Given the description of an element on the screen output the (x, y) to click on. 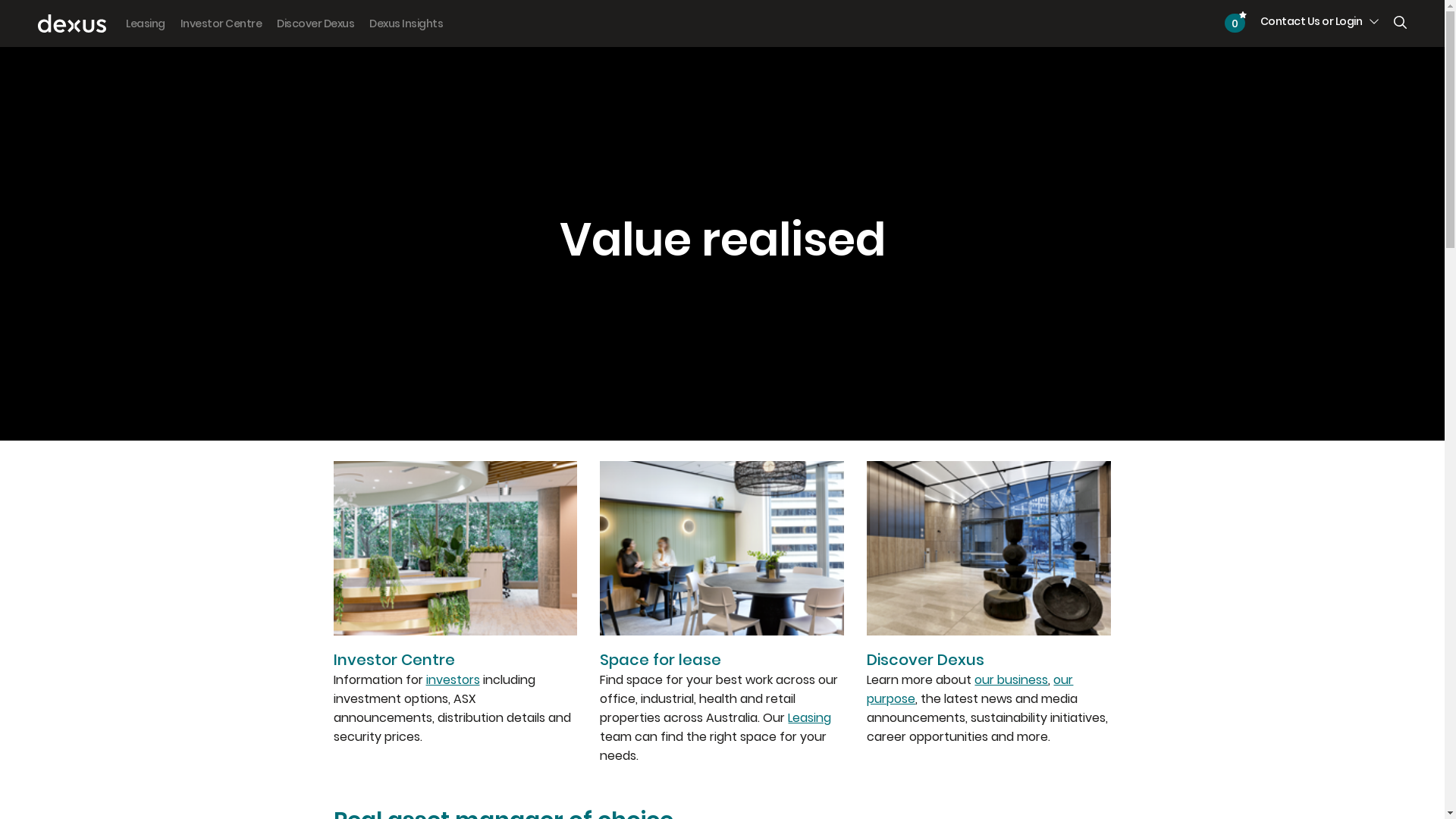
Investor Centre Element type: text (220, 23)
Leasing Element type: text (145, 23)
our business Element type: text (1011, 679)
Contact Us or Login Element type: text (1319, 21)
Leasing Element type: text (809, 717)
0 Element type: text (1234, 22)
investors Element type: text (453, 679)
Dexus Insights Element type: text (405, 23)
our purpose Element type: text (969, 689)
Discover Dexus Element type: text (315, 23)
